Given the description of an element on the screen output the (x, y) to click on. 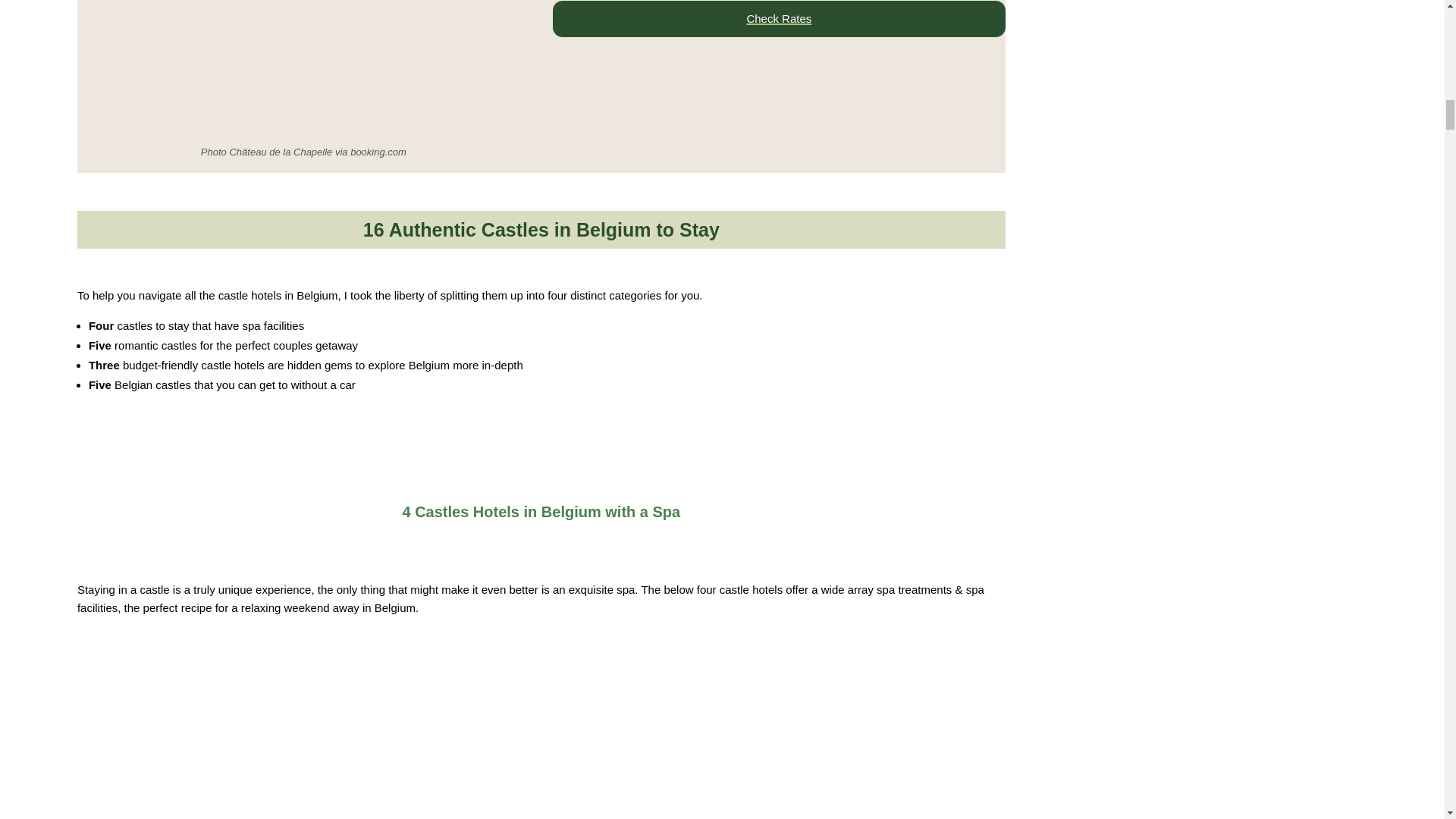
16 Castle Hotels in Belgium (303, 69)
16 Castle Hotels in Belgium (465, 484)
16 Castle Hotels in Belgium (532, 748)
16 Castle Hotels in Belgium (465, 540)
